Given the description of an element on the screen output the (x, y) to click on. 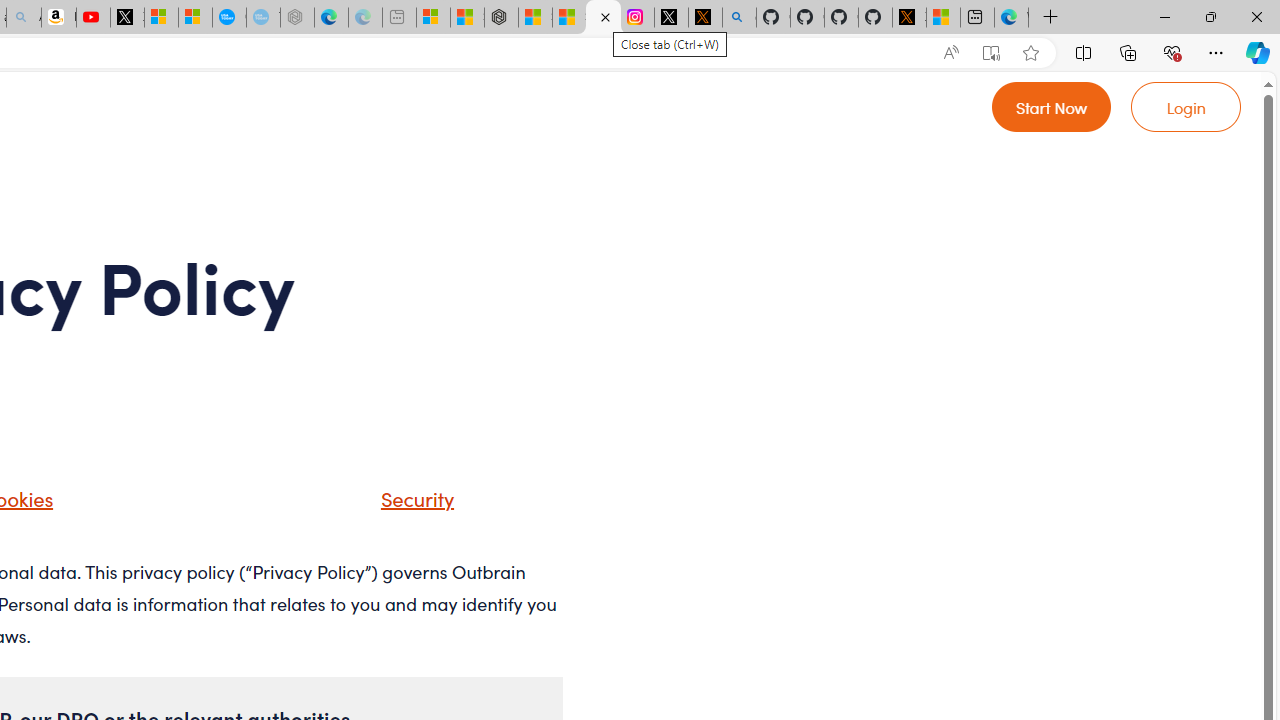
Shanghai, China Weather trends | Microsoft Weather (569, 17)
Nordace - Nordace has arrived Hong Kong - Sleeping (296, 17)
Enter Immersive Reader (F9) (991, 53)
Log in to X / X (671, 17)
